Given the description of an element on the screen output the (x, y) to click on. 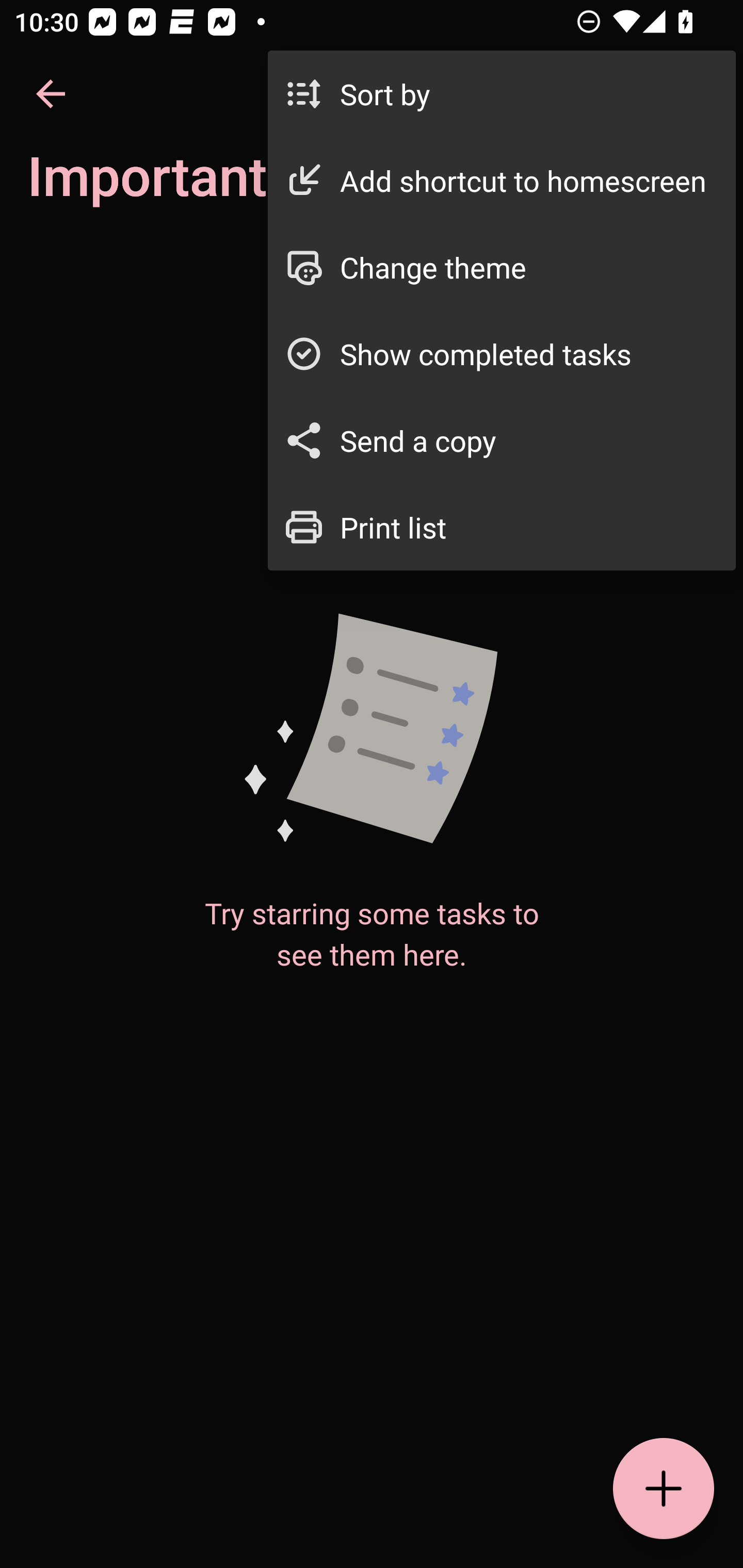
Sort by1 in 6 Sort by (501, 93)
Change theme3 in 6 Change theme (501, 267)
Show completed tasks4 in 6 Show completed tasks (501, 353)
Send a copy5 in 6 Send a copy (501, 440)
Print list6 in 6 Print list (501, 527)
